Given the description of an element on the screen output the (x, y) to click on. 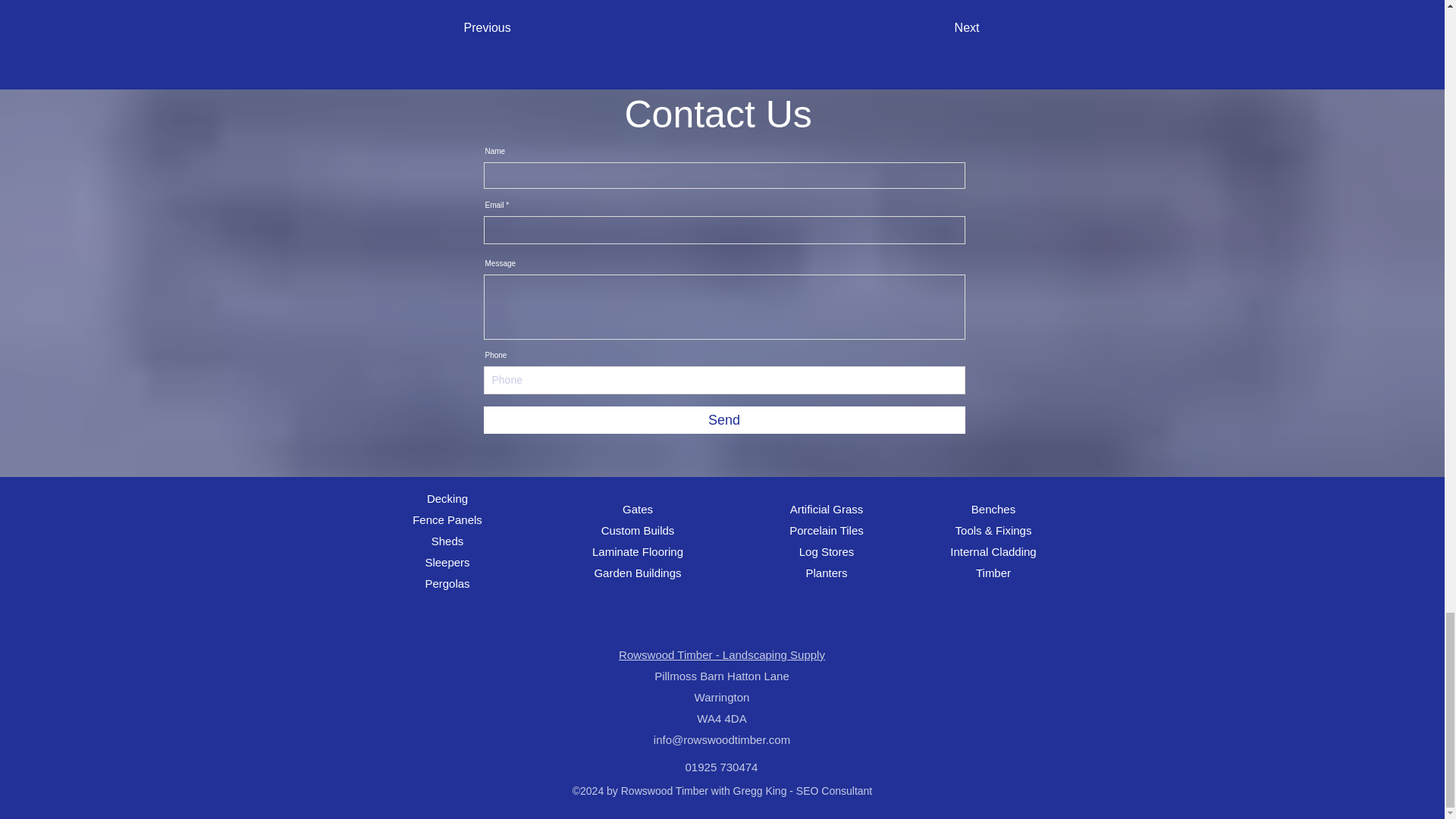
Send (724, 420)
Previous (513, 28)
Next (941, 28)
Pergolas (446, 583)
Decking (446, 498)
Sleepers (446, 562)
Sheds (447, 540)
Fence Panels (446, 519)
Gates (637, 508)
